Given the description of an element on the screen output the (x, y) to click on. 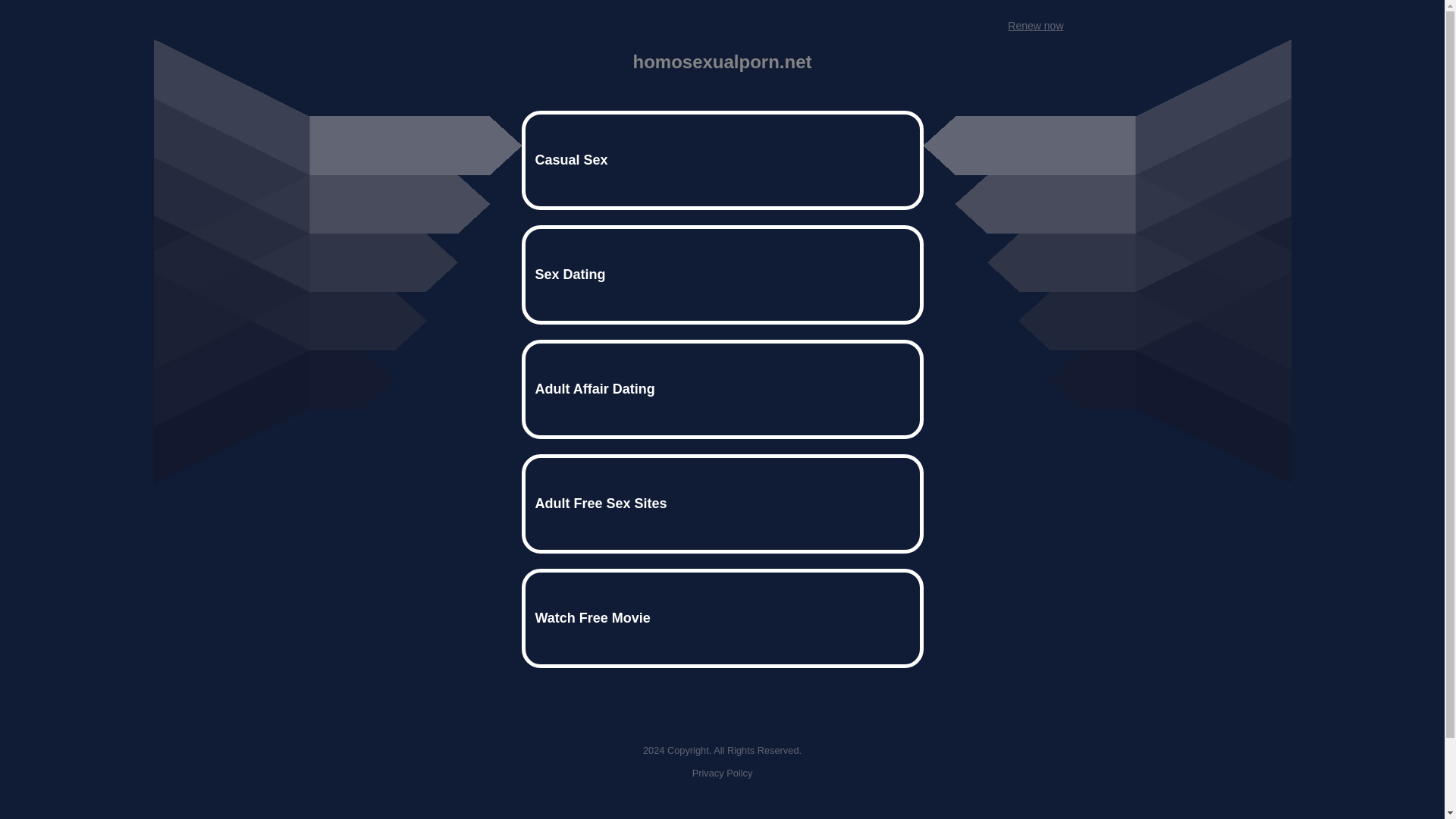
Sex Dating (722, 274)
Renew now (1034, 25)
Privacy Policy (722, 772)
Adult Free Sex Sites (722, 503)
Adult Affair Dating (722, 388)
Casual Sex (722, 159)
Watch Free Movie (722, 618)
